Given the description of an element on the screen output the (x, y) to click on. 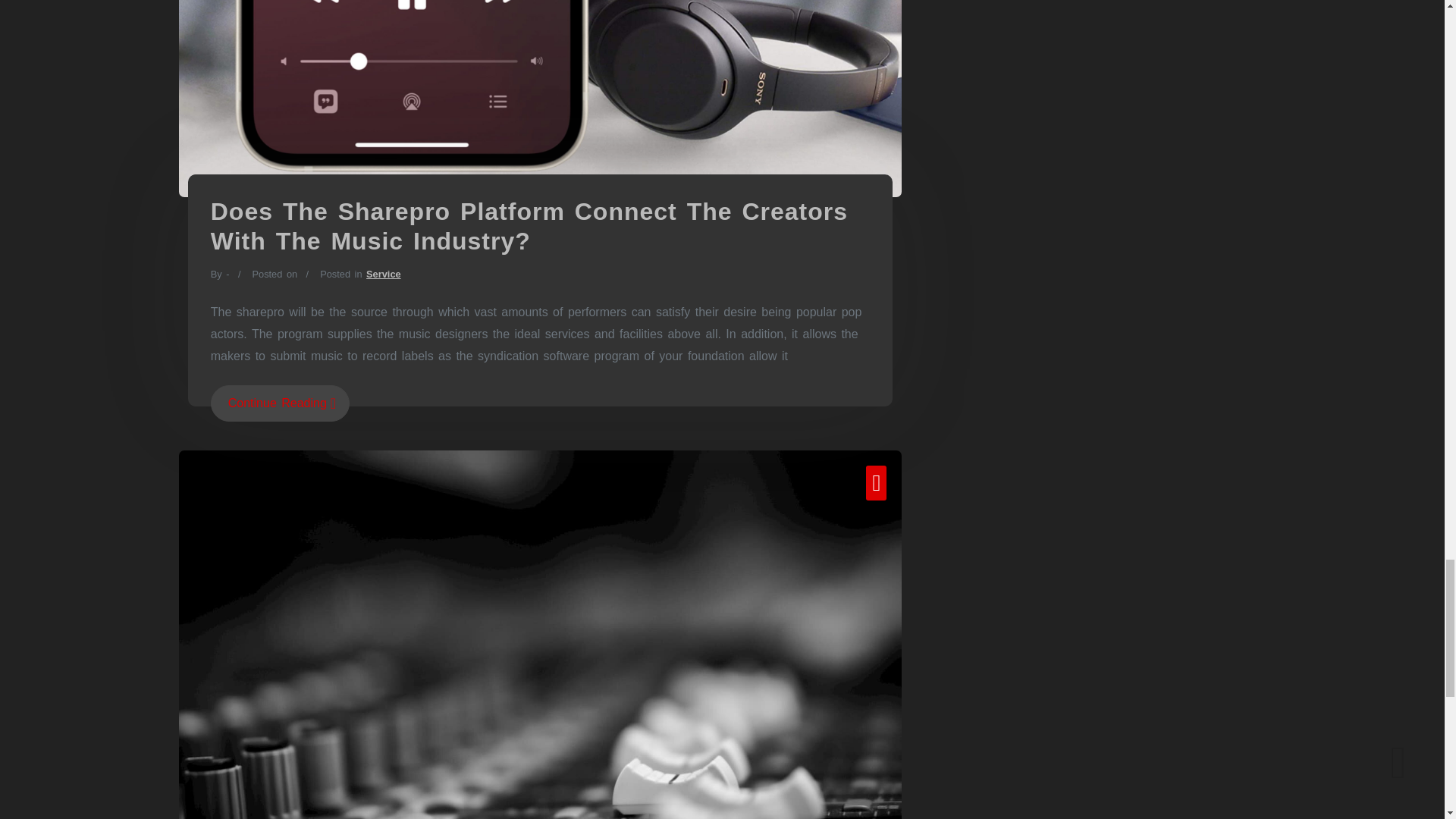
Service (383, 274)
Continue Reading (280, 402)
